Given the description of an element on the screen output the (x, y) to click on. 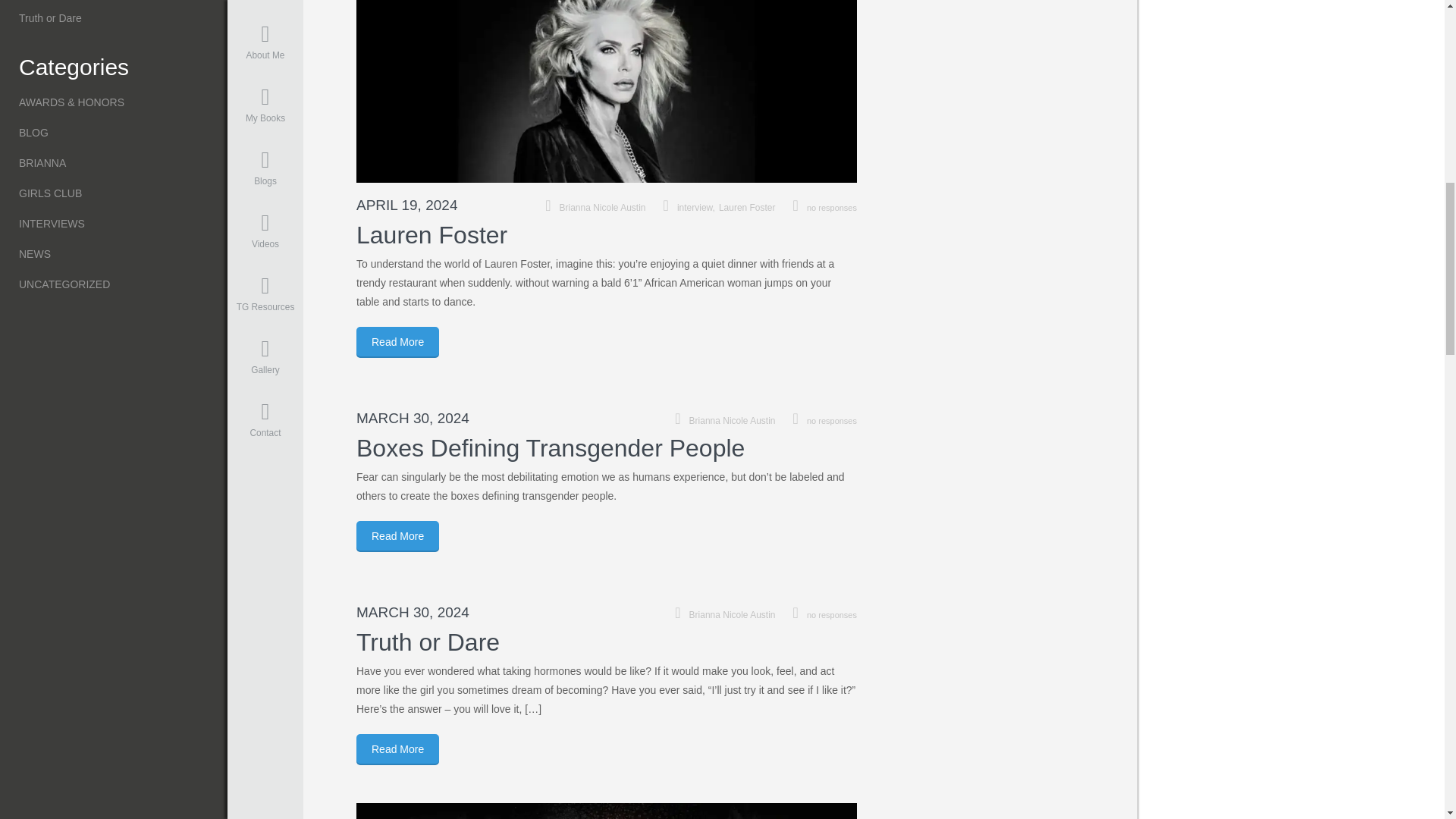
Read More (397, 748)
Lauren Foster (431, 234)
Truth or Dare (427, 642)
Read More (397, 536)
interview, (698, 207)
Brianna Nicole Austin (602, 207)
Brianna Nicole Austin (732, 420)
Read More (397, 341)
Brianna Nicole Austin (732, 614)
Lauren Foster (747, 207)
Boxes Defining Transgender People (550, 447)
